Given the description of an element on the screen output the (x, y) to click on. 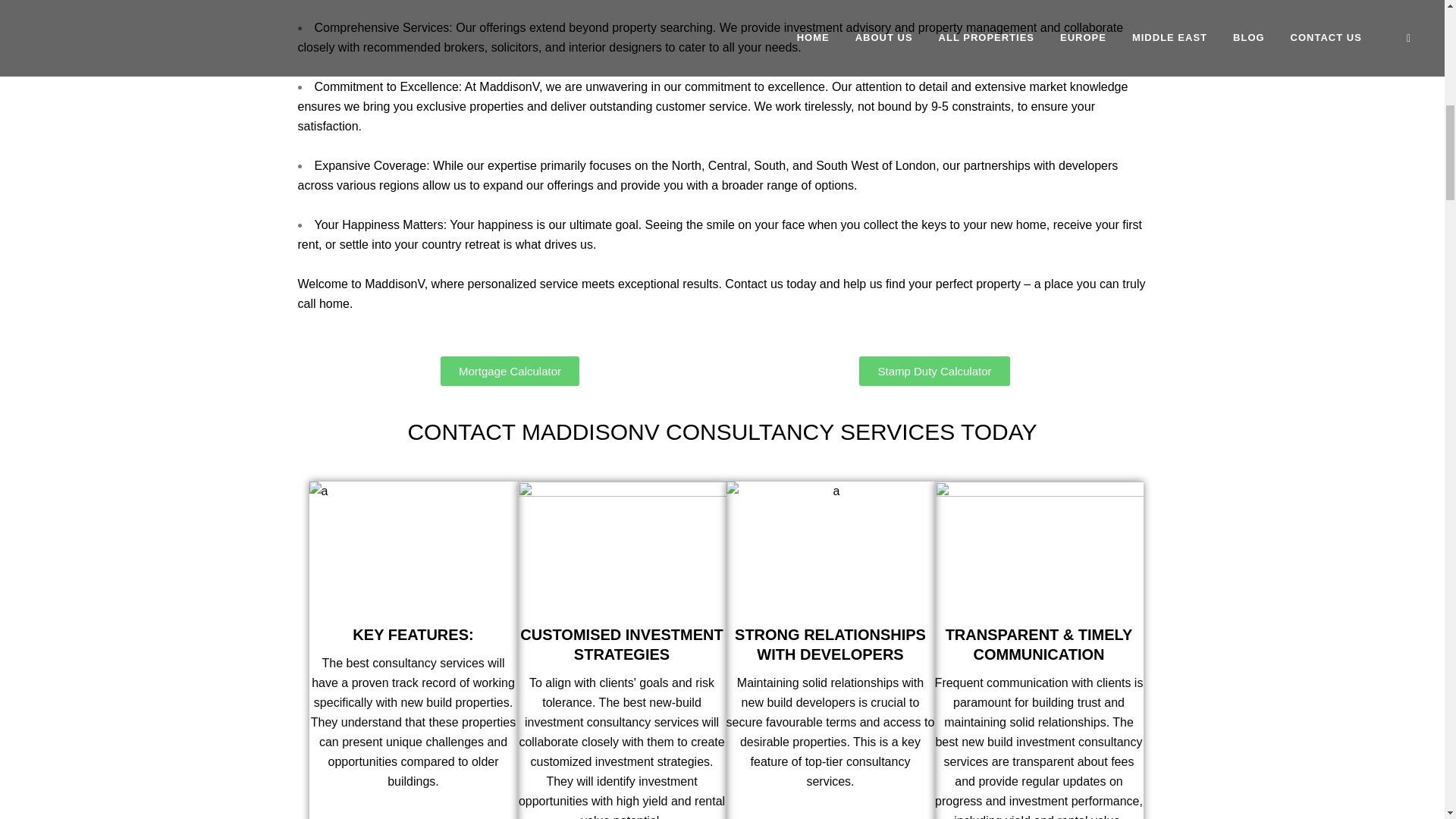
Mortgage Calculator (510, 370)
Stamp Duty Calculator (934, 370)
